Given the description of an element on the screen output the (x, y) to click on. 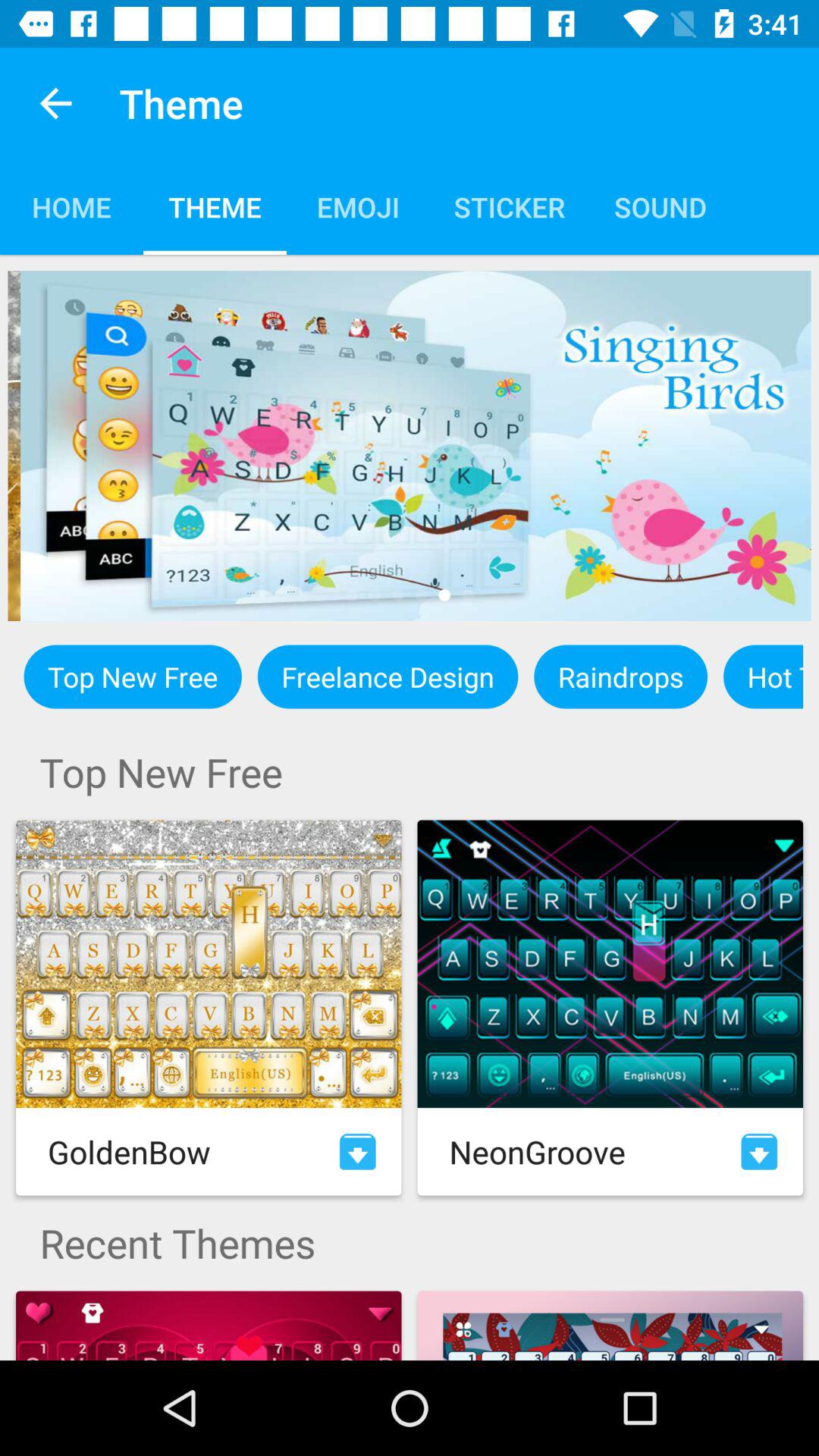
turn on the icon to the left of the hot themes icon (620, 676)
